Given the description of an element on the screen output the (x, y) to click on. 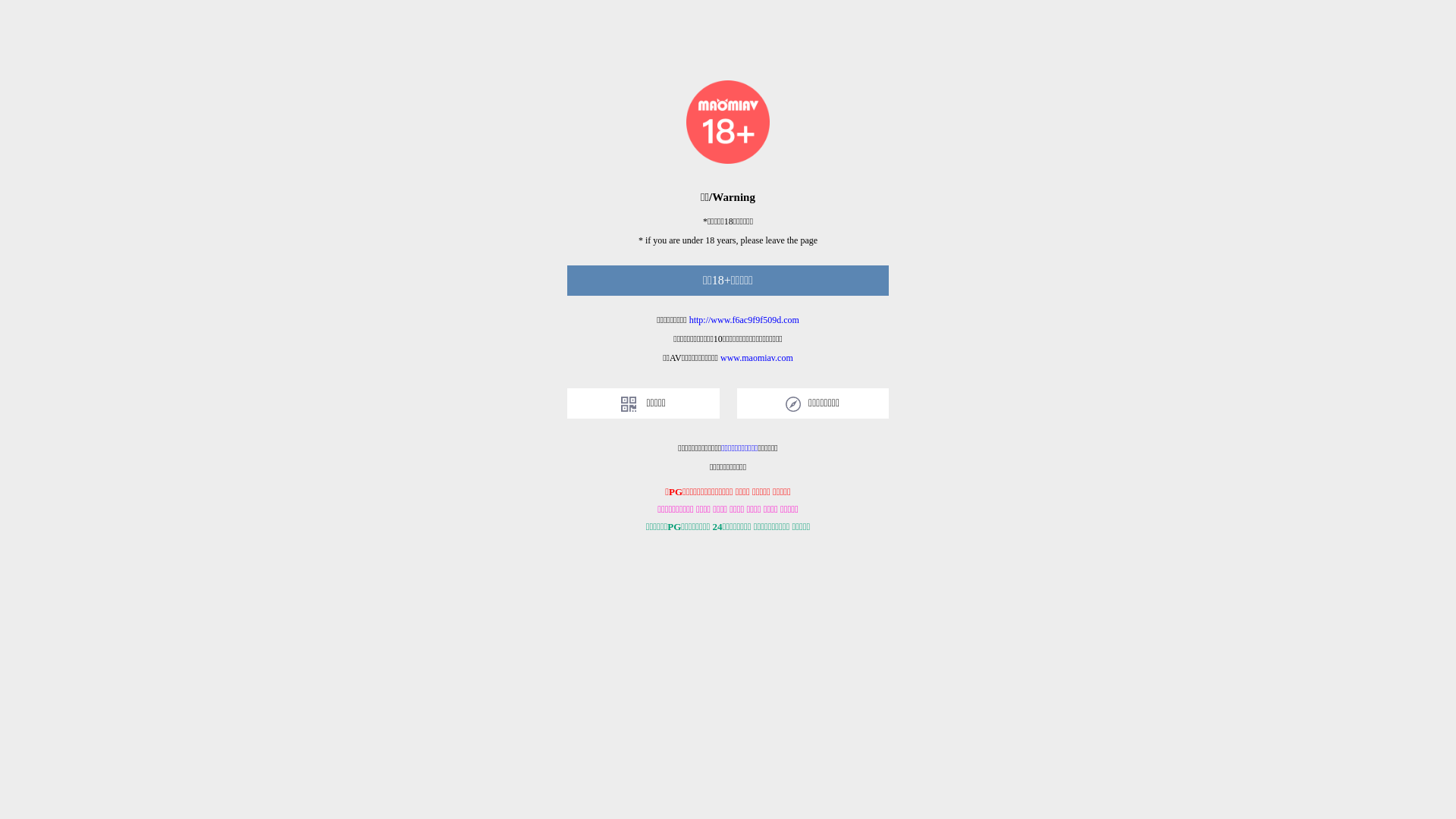
http://www.f6ac9f9f509d.com Element type: text (744, 319)
www.maomiav.com Element type: text (756, 357)
